Given the description of an element on the screen output the (x, y) to click on. 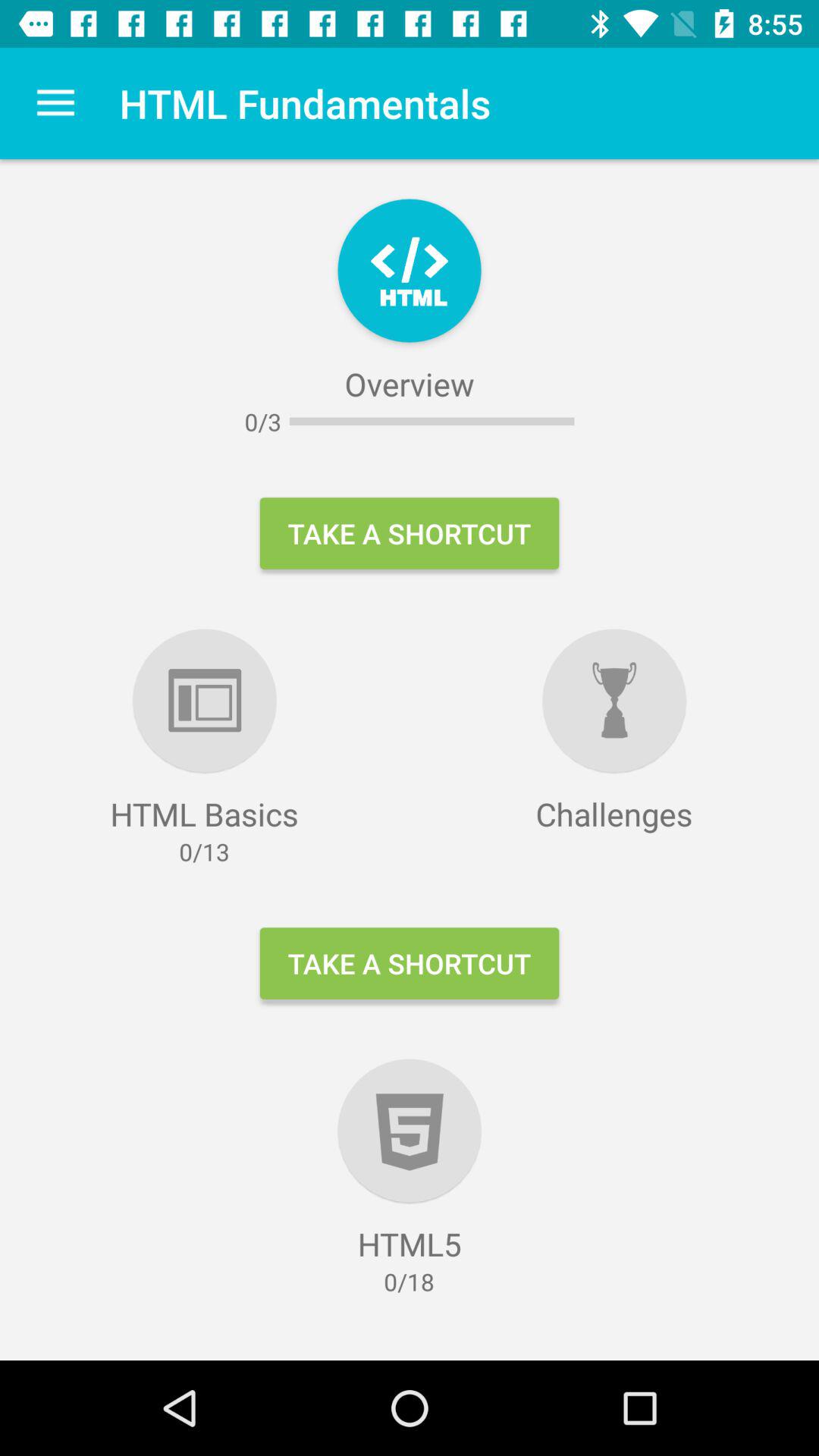
turn off icon next to html fundamentals (55, 103)
